Given the description of an element on the screen output the (x, y) to click on. 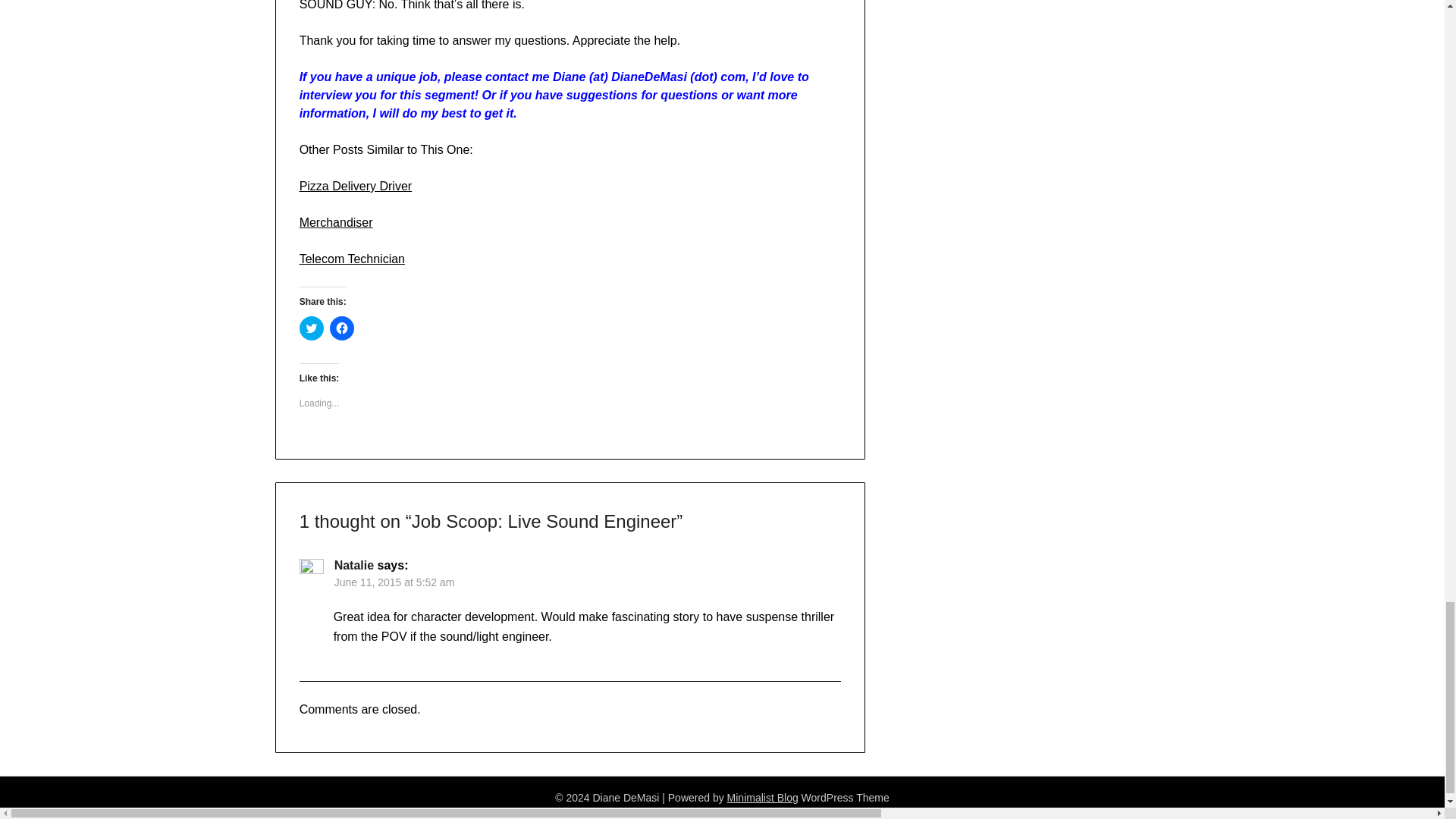
Click to share on Facebook (341, 328)
Click to share on Twitter (311, 328)
Job Scoop: Pizza Delivery Driver (355, 185)
Merchandiser (335, 222)
June 11, 2015 at 5:52 am (394, 582)
Minimalist Blog (761, 797)
Telecom Technician (351, 258)
Pizza Delivery Driver (355, 185)
Natalie (354, 564)
